Given the description of an element on the screen output the (x, y) to click on. 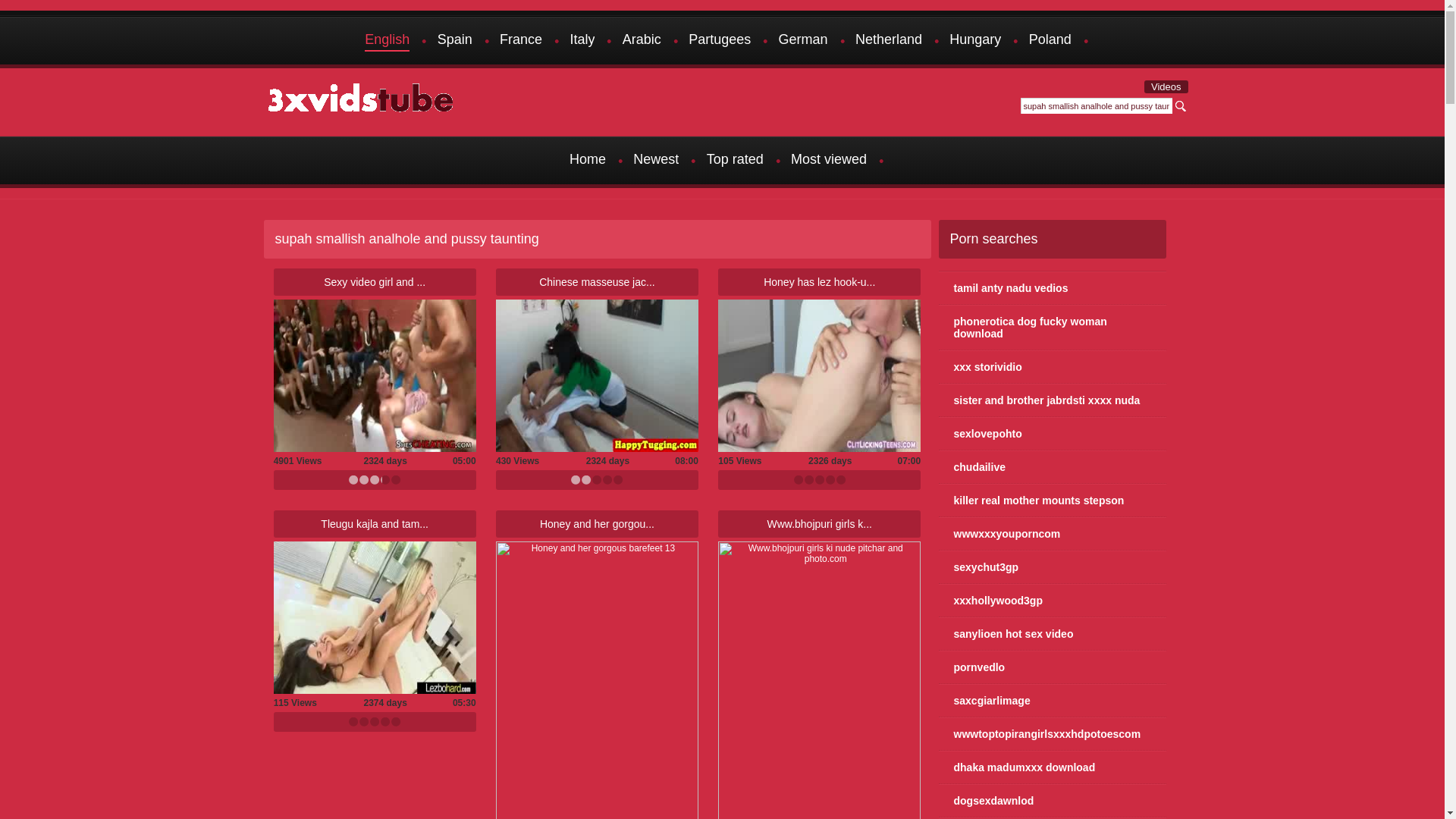
Most viewed Element type: text (828, 160)
Spain Element type: text (454, 40)
France Element type: text (520, 40)
Italy Element type: text (581, 40)
phonerotica dog fucky woman download Element type: text (1052, 327)
Sexy video girl and ... Element type: text (374, 282)
German Element type: text (803, 40)
dogsexdawnlod Element type: text (1052, 800)
Chinese masseuse jac... Element type: text (597, 282)
Videos Element type: text (1166, 86)
Hungary Element type: text (975, 40)
sexychut3gp Element type: text (1052, 567)
Newest Element type: text (655, 160)
sexlovepohto Element type: text (1052, 433)
saxcgiarlimage Element type: text (1052, 700)
xxx storividio Element type: text (1052, 366)
killer real mother mounts stepson Element type: text (1052, 500)
dhaka madumxxx download Element type: text (1052, 767)
wwwxxxyouporncom Element type: text (1052, 533)
Arabic Element type: text (641, 40)
Poland Element type: text (1050, 40)
sister and brother jabrdsti xxxx nuda Element type: text (1052, 400)
Top rated Element type: text (734, 160)
English Element type: text (386, 40)
sanylioen hot sex video Element type: text (1052, 633)
Home Element type: text (587, 160)
xxxhollywood3gp Element type: text (1052, 600)
tamil anty nadu vedios Element type: text (1052, 288)
Partugees Element type: text (719, 40)
Tleugu kajla and tam... Element type: text (374, 523)
chudailive Element type: text (1052, 467)
Honey has lez hook-u... Element type: text (819, 282)
Www.bhojpuri girls k... Element type: text (819, 523)
wwwtoptopirangirlsxxxhdpotoescom Element type: text (1052, 733)
Honey and her gorgou... Element type: text (596, 523)
Netherland Element type: text (888, 40)
pornvedlo Element type: text (1052, 667)
